Given the description of an element on the screen output the (x, y) to click on. 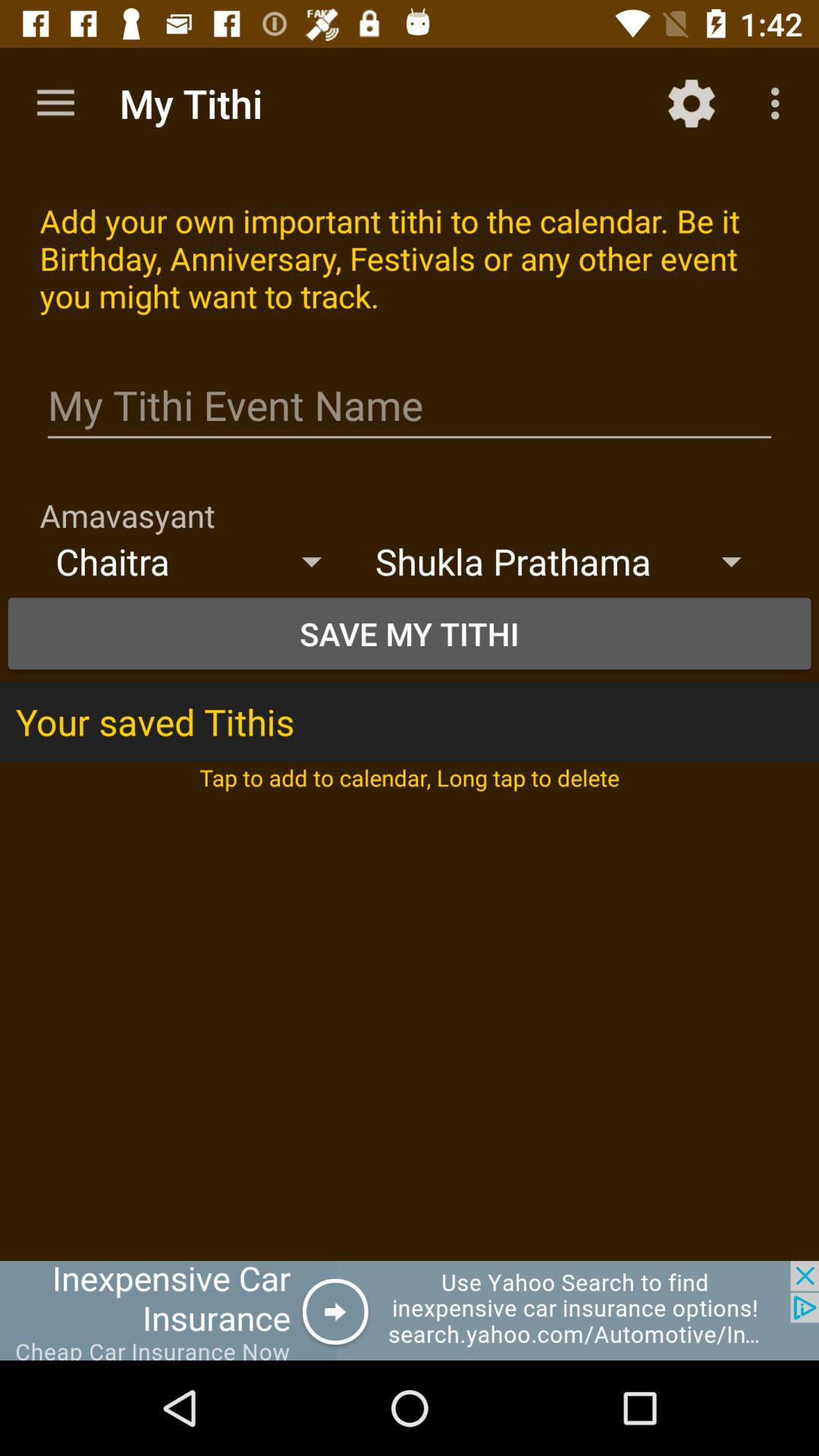
insurance adds (409, 1310)
